Given the description of an element on the screen output the (x, y) to click on. 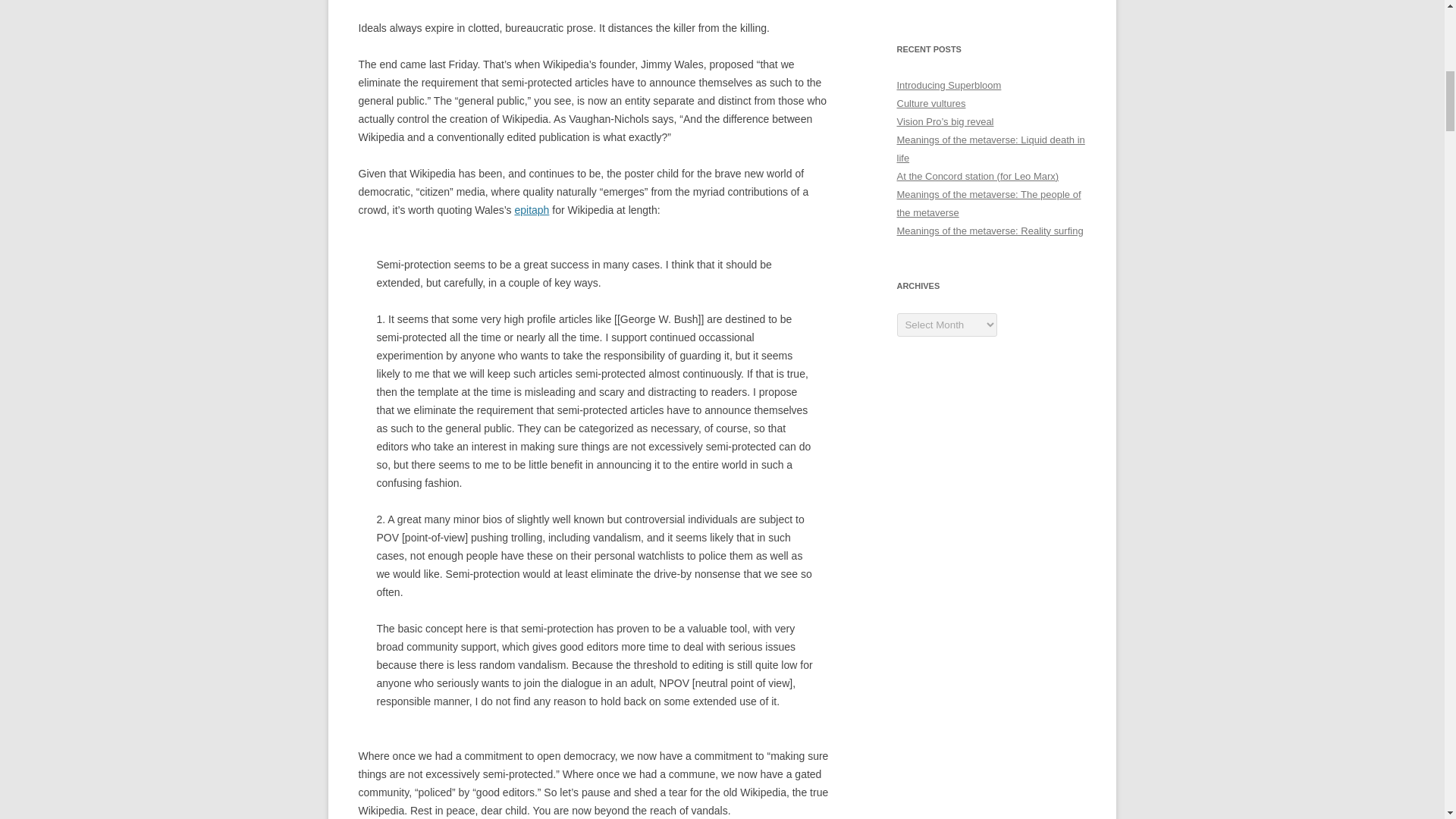
epitaph (530, 209)
